Given the description of an element on the screen output the (x, y) to click on. 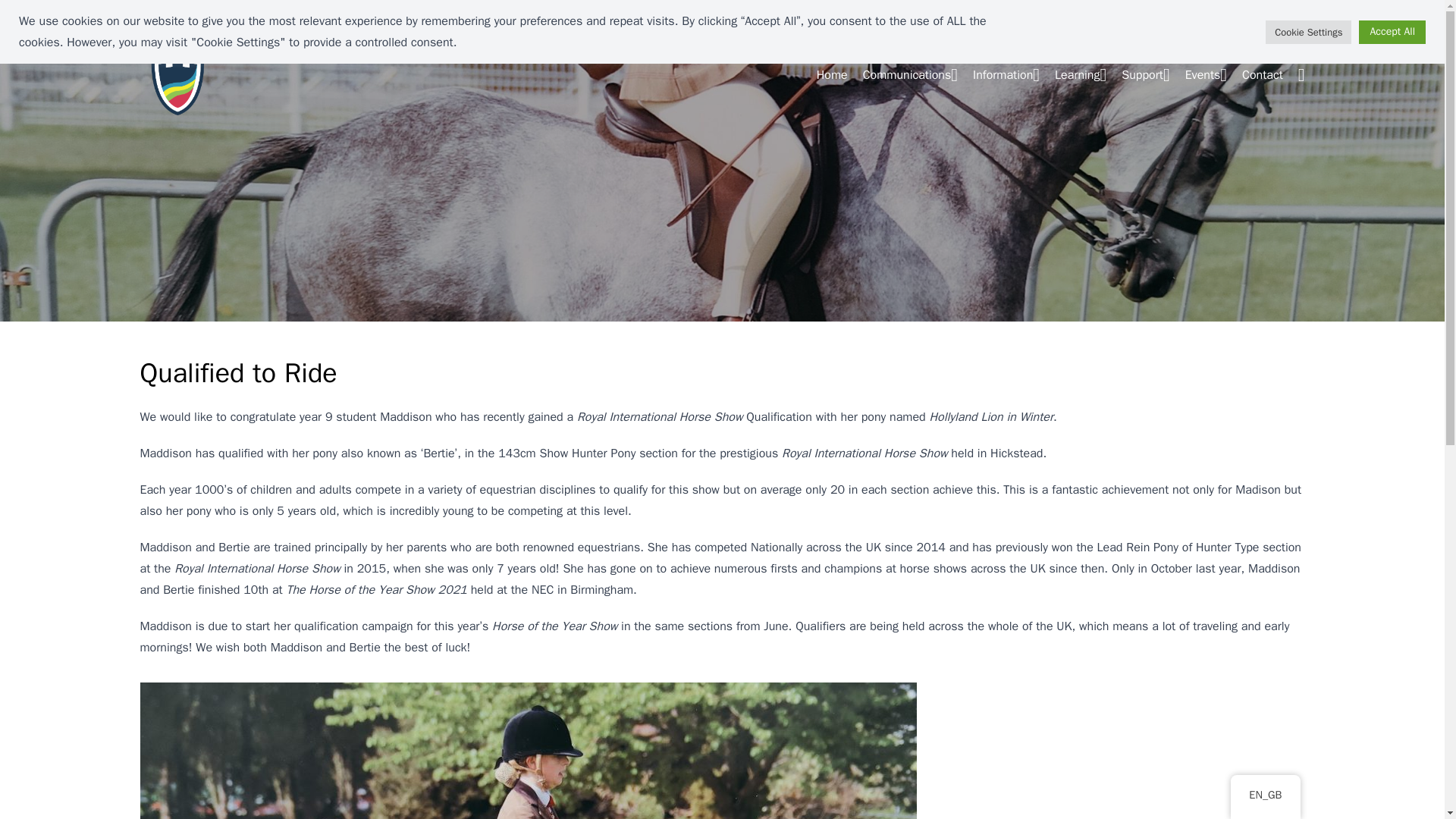
Contact (1261, 74)
Accept All (1391, 31)
Events (1206, 74)
Schoolcomms Gateway (1250, 28)
Learning (1080, 74)
Twitter (1162, 28)
SharePoint (1039, 28)
Twitter (1162, 28)
Communications (910, 74)
Support (1145, 74)
Information (1005, 74)
Home (831, 74)
SharePoint (1039, 28)
Schoolcomms Gateway (1250, 28)
Facebook (1106, 28)
